Given the description of an element on the screen output the (x, y) to click on. 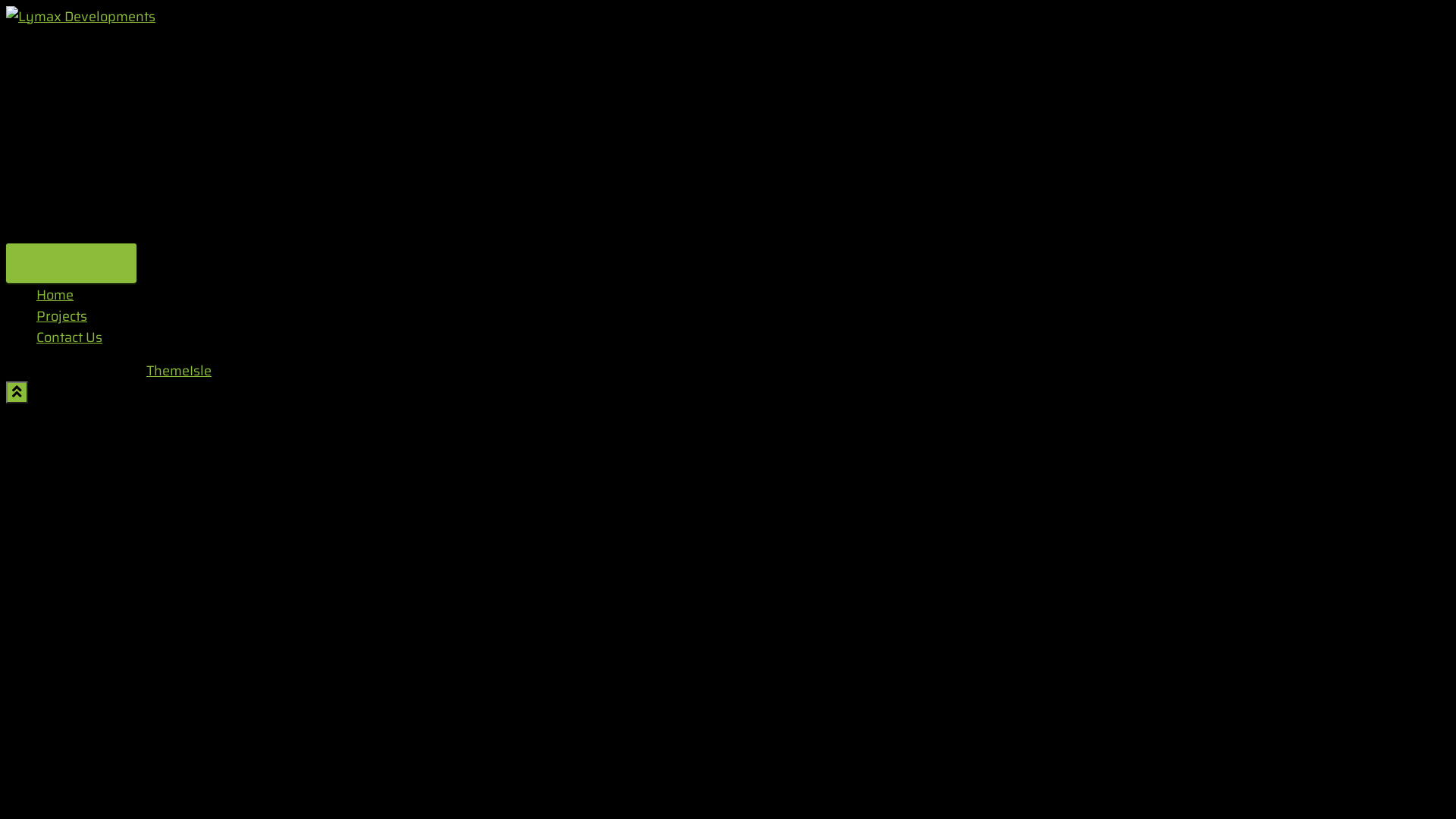
See Our Projects Element type: text (71, 262)
Contact Us Element type: text (69, 337)
Home Element type: text (54, 294)
Lymax Developments Element type: hover (80, 16)
Projects Element type: text (61, 315)
ThemeIsle Element type: text (178, 370)
